Given the description of an element on the screen output the (x, y) to click on. 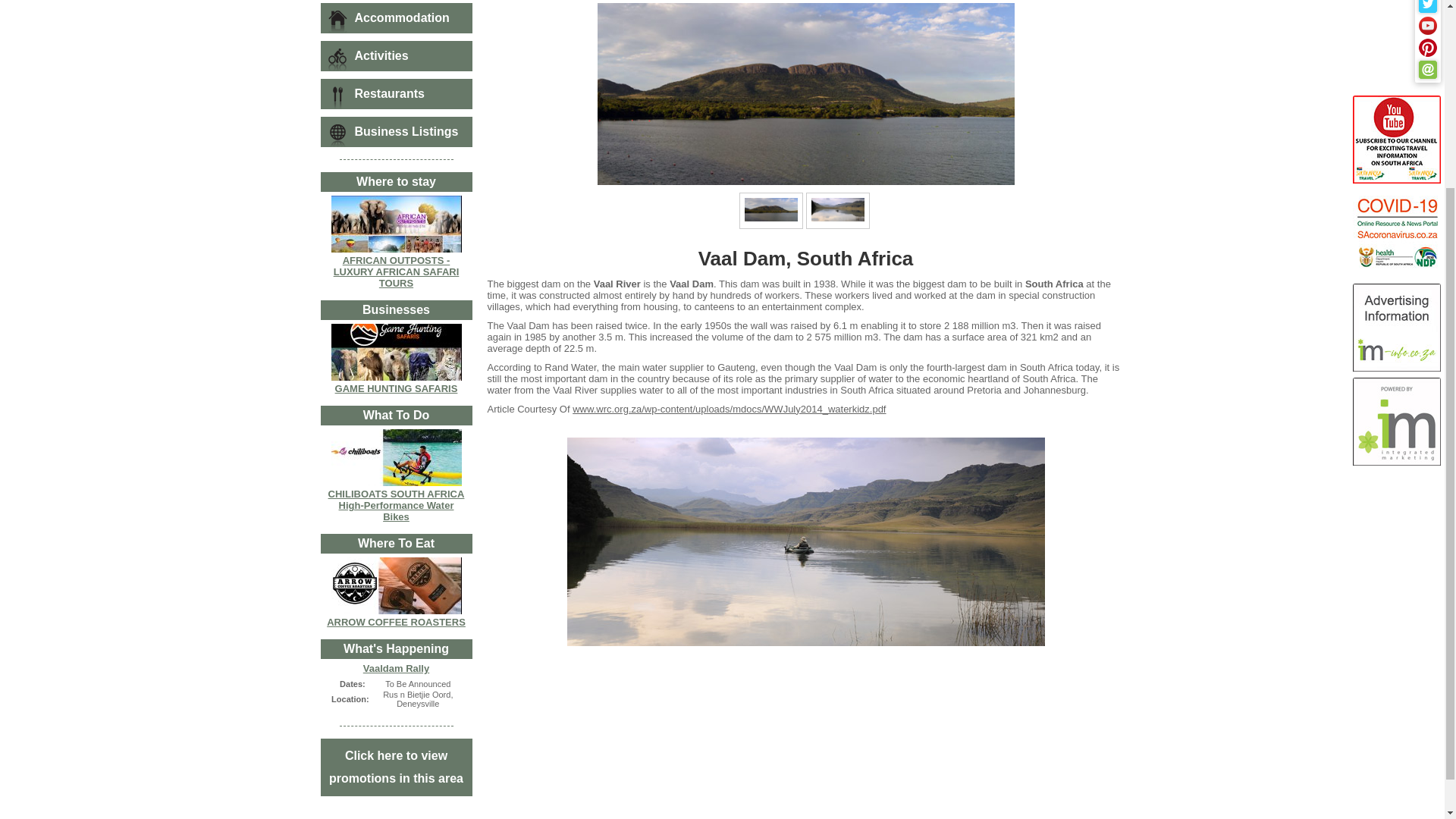
Business Listings (395, 132)
YouTube (1427, 25)
Restaurants (395, 93)
Pinterest (1427, 47)
Activities (395, 55)
AFRICAN OUTPOSTS - LUXURY AFRICAN SAFARI TOURS (396, 271)
Email (1427, 69)
Twitter (1427, 6)
Accommodation (395, 18)
